Given the description of an element on the screen output the (x, y) to click on. 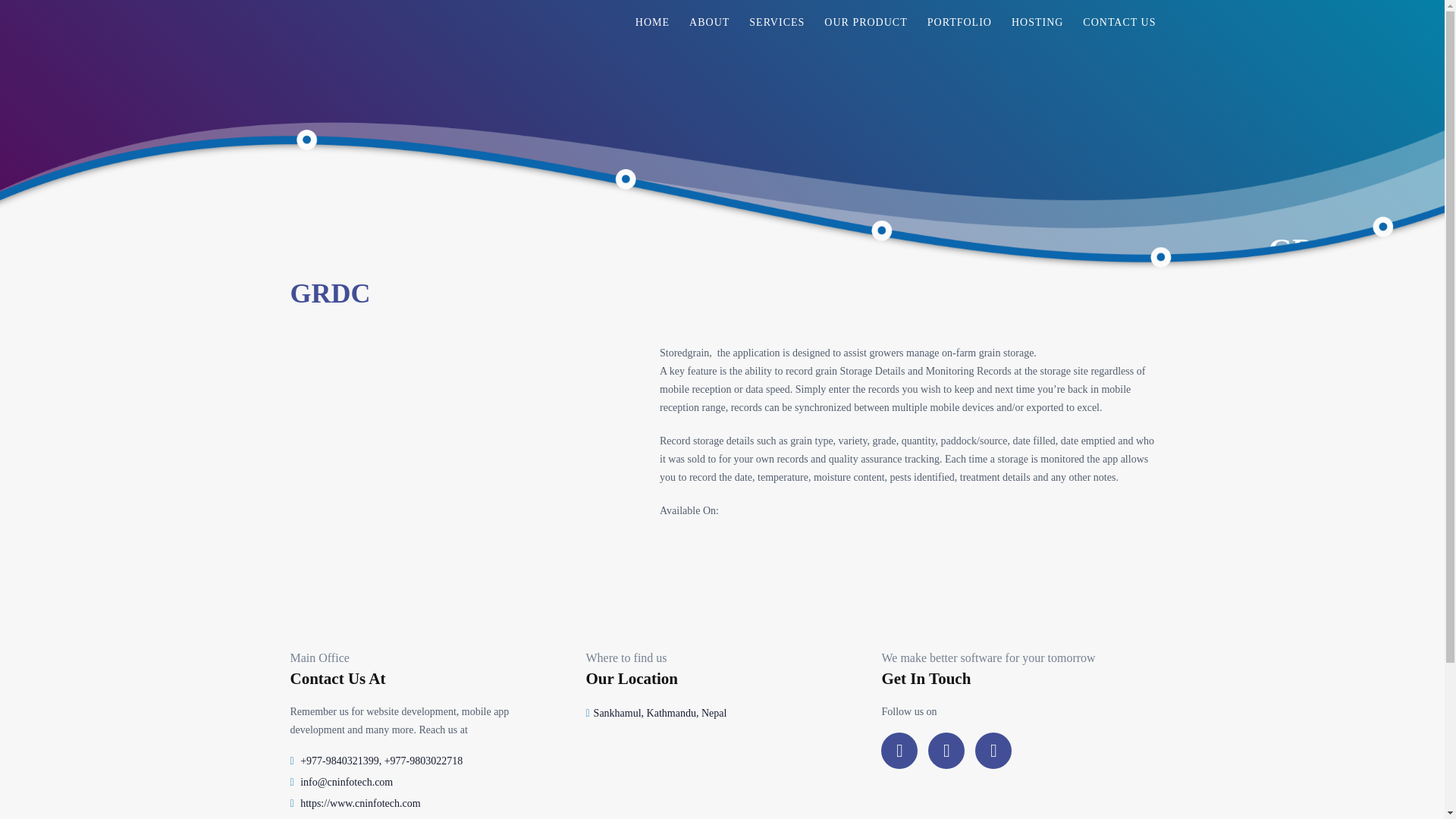
PORTFOLIO (959, 23)
CONTACT US (1118, 23)
HOSTING (1037, 23)
ABOUT (709, 23)
OUR PRODUCT (865, 23)
HOME (652, 23)
SERVICES (776, 23)
